Given the description of an element on the screen output the (x, y) to click on. 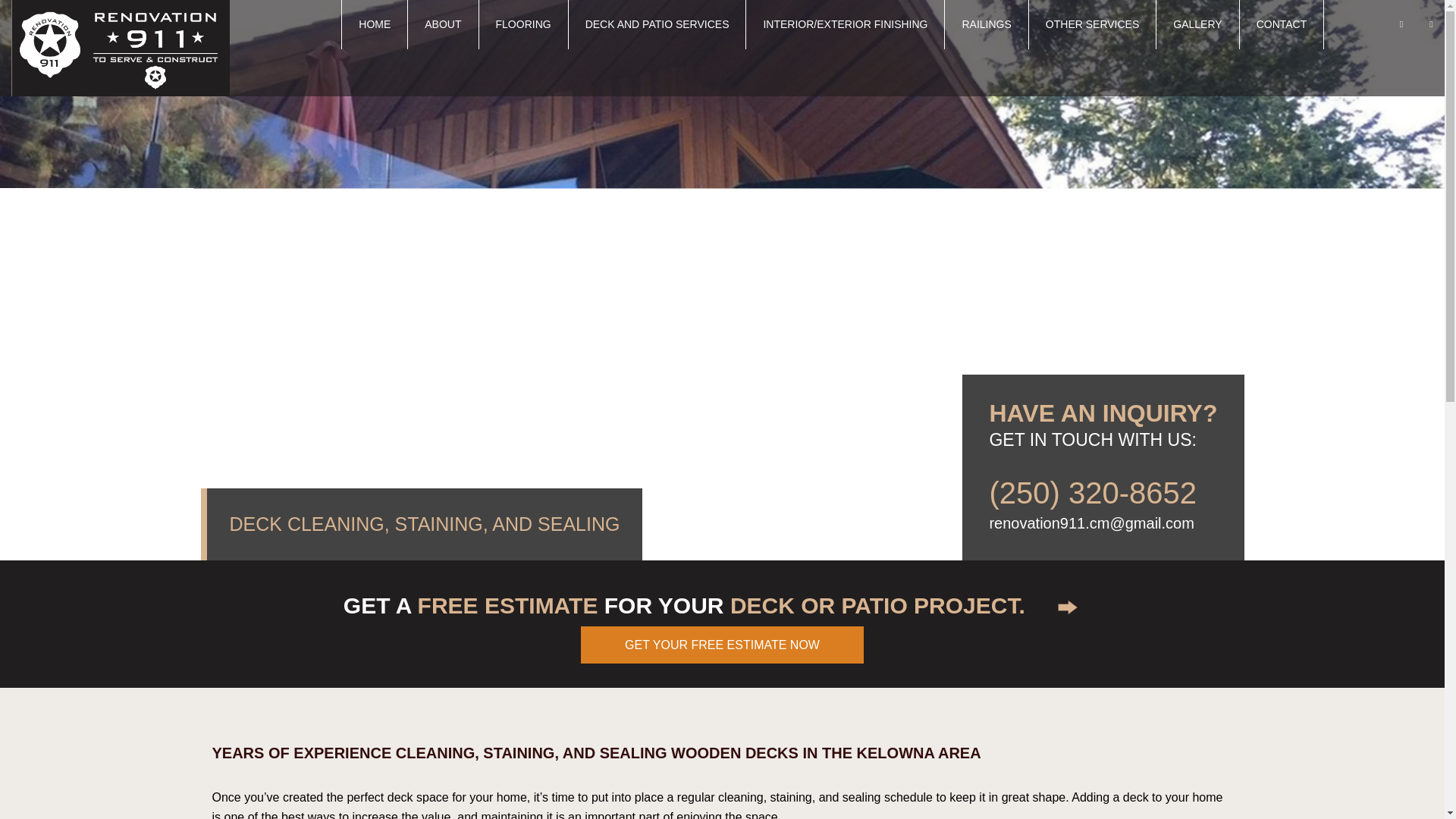
HOME (374, 24)
OTHER SERVICES (1092, 24)
DECK AND PATIO SERVICES (657, 24)
CONTACT (1281, 24)
GALLERY (1197, 24)
GET YOUR FREE ESTIMATE NOW (721, 644)
FLOORING (523, 24)
ABOUT (442, 24)
RAILINGS (985, 24)
